Given the description of an element on the screen output the (x, y) to click on. 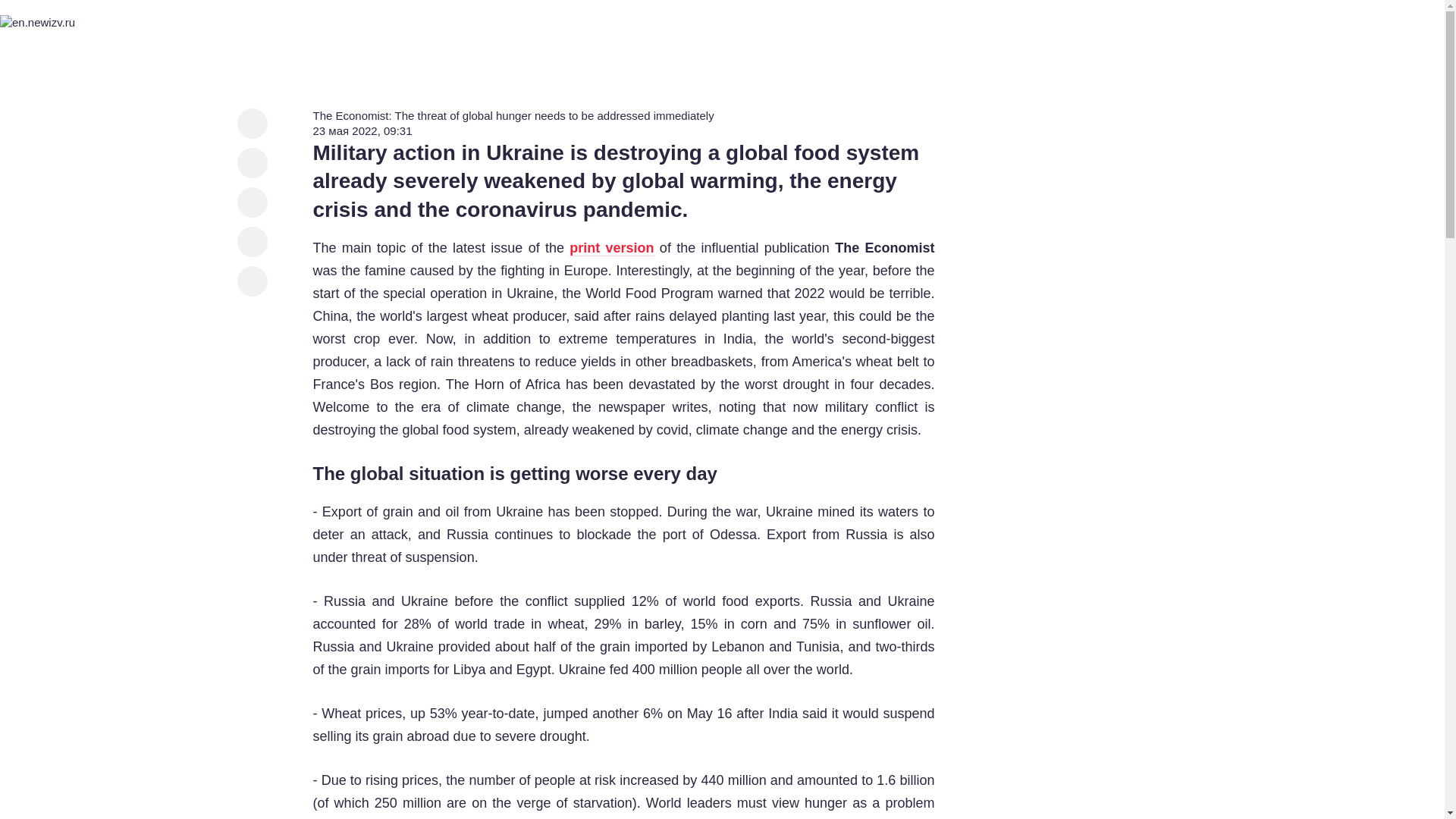
print version (611, 248)
